Given the description of an element on the screen output the (x, y) to click on. 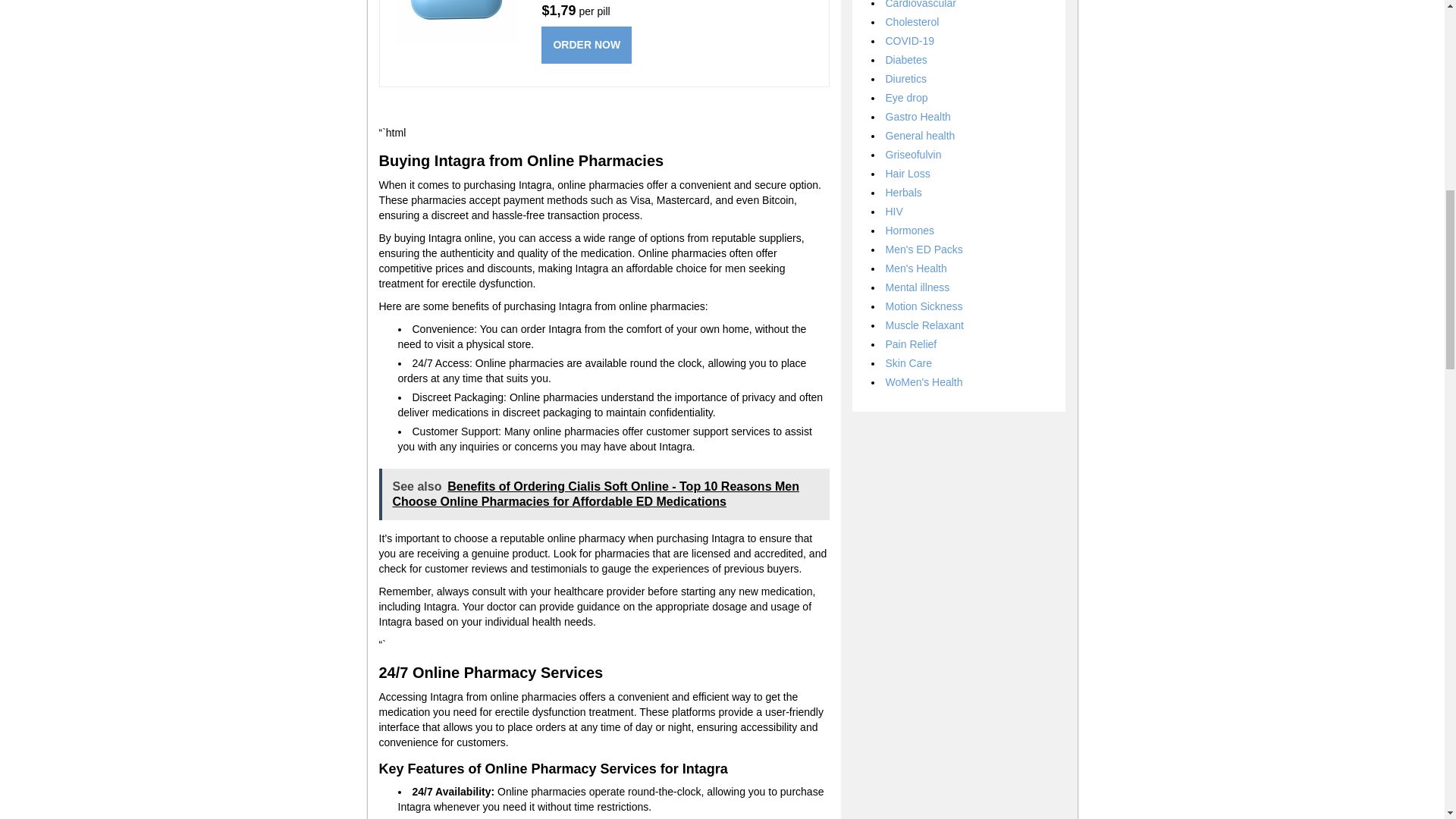
Diuretics (905, 78)
ORDER NOW (586, 44)
Gastro Health (917, 116)
COVID-19 (909, 40)
Eye drop (906, 97)
Diabetes (906, 60)
Cholesterol (912, 21)
Cardiovascular (920, 4)
